Given the description of an element on the screen output the (x, y) to click on. 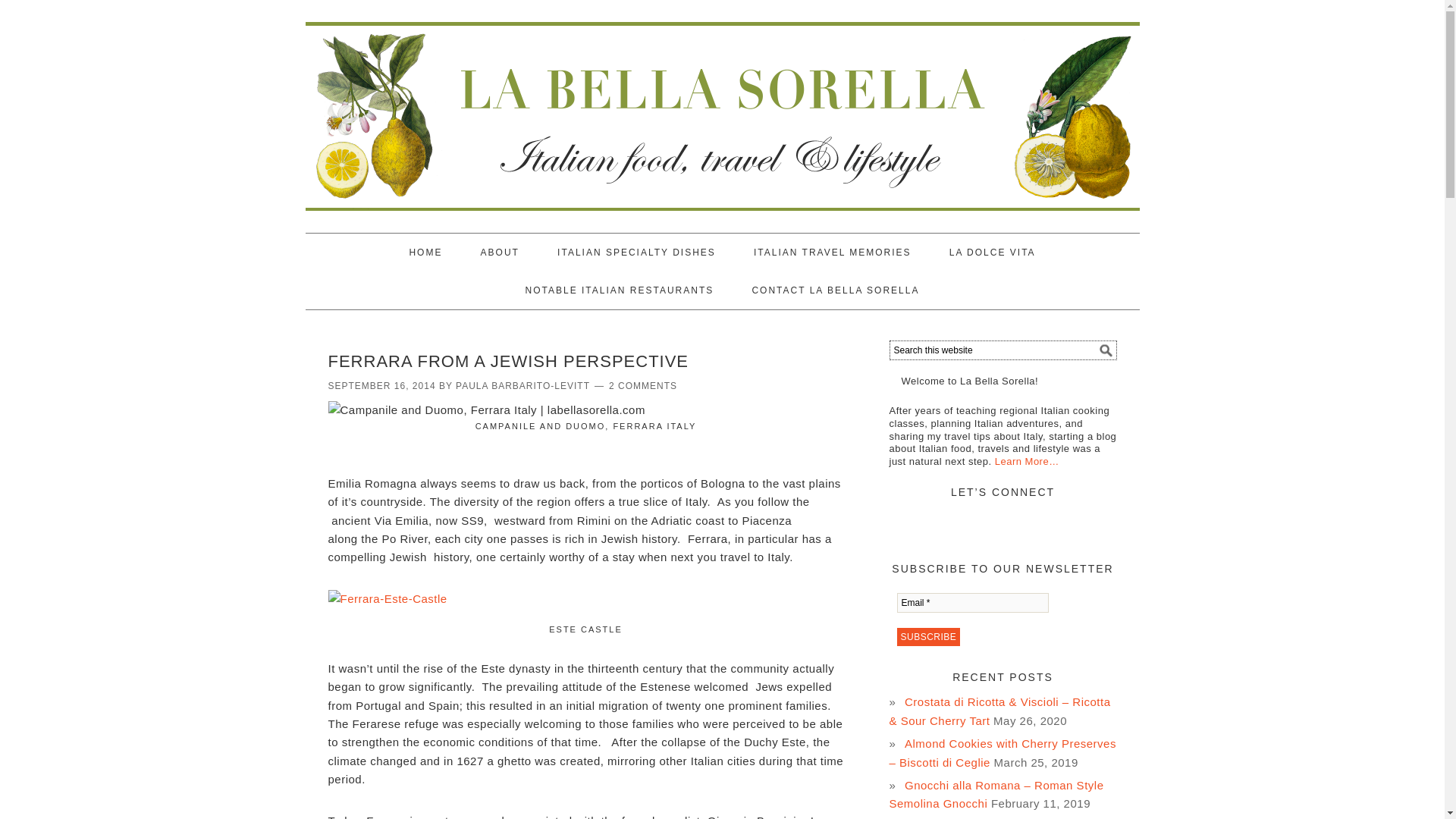
PAULA BARBARITO-LEVITT (522, 385)
CONTACT LA BELLA SORELLA (835, 290)
Subscribe (927, 637)
ITALIAN TRAVEL MEMORIES (832, 252)
LA DOLCE VITA (992, 252)
NOTABLE ITALIAN RESTAURANTS (619, 290)
2 COMMENTS (642, 385)
ABOUT (499, 252)
